Given the description of an element on the screen output the (x, y) to click on. 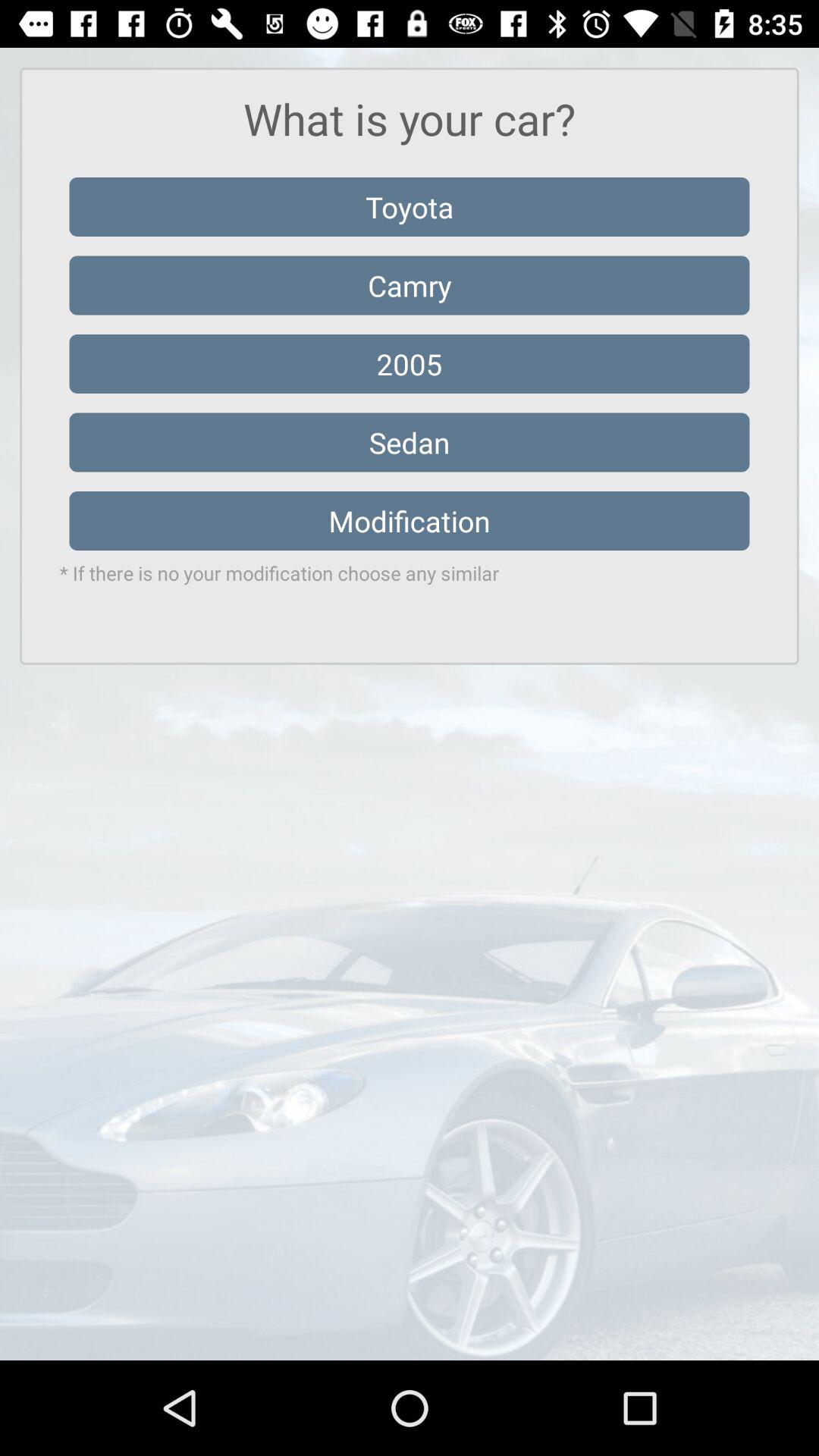
swipe until the camry icon (409, 285)
